Given the description of an element on the screen output the (x, y) to click on. 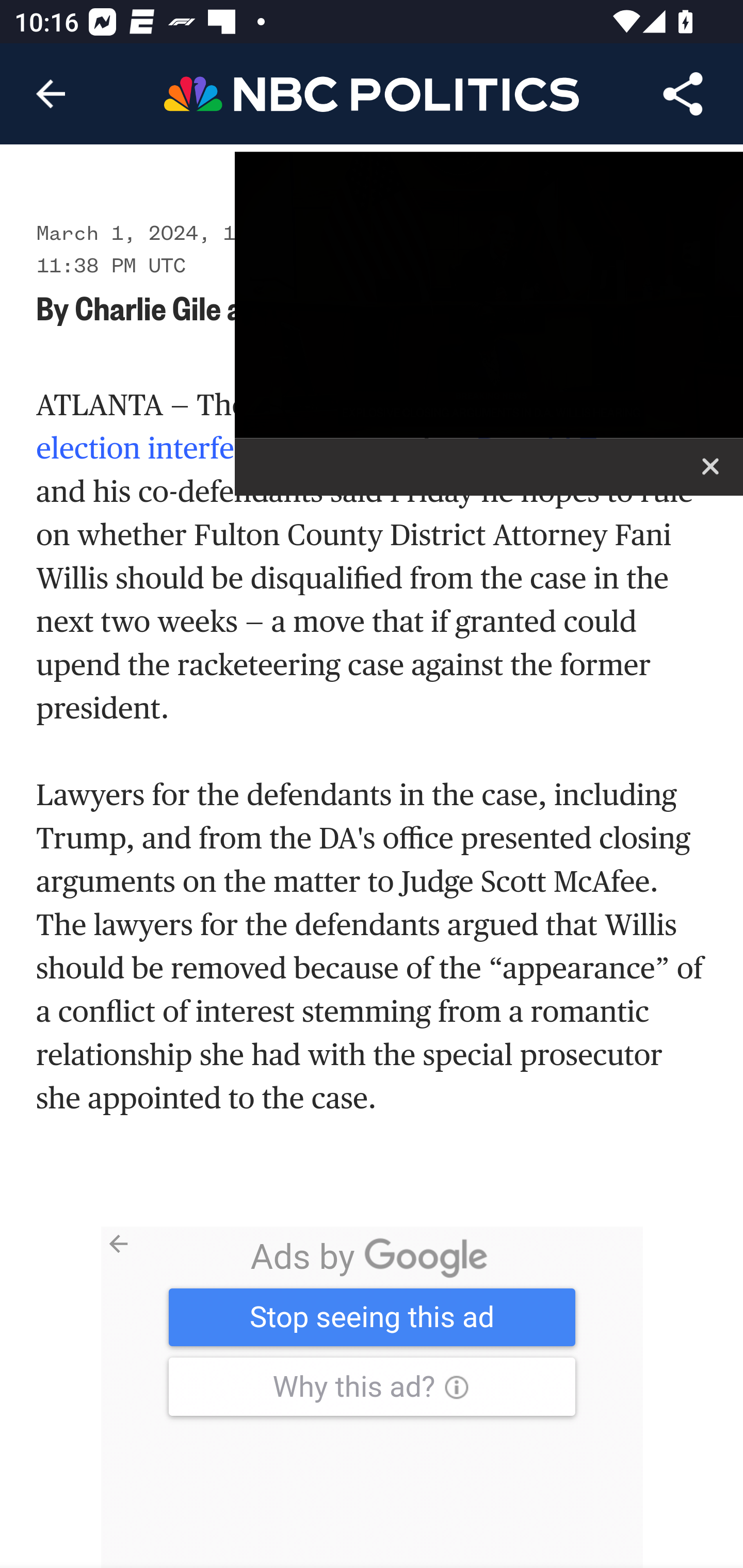
Navigate up (50, 93)
Share Article, button (683, 94)
Header, NBC Politics (371, 93)
